Given the description of an element on the screen output the (x, y) to click on. 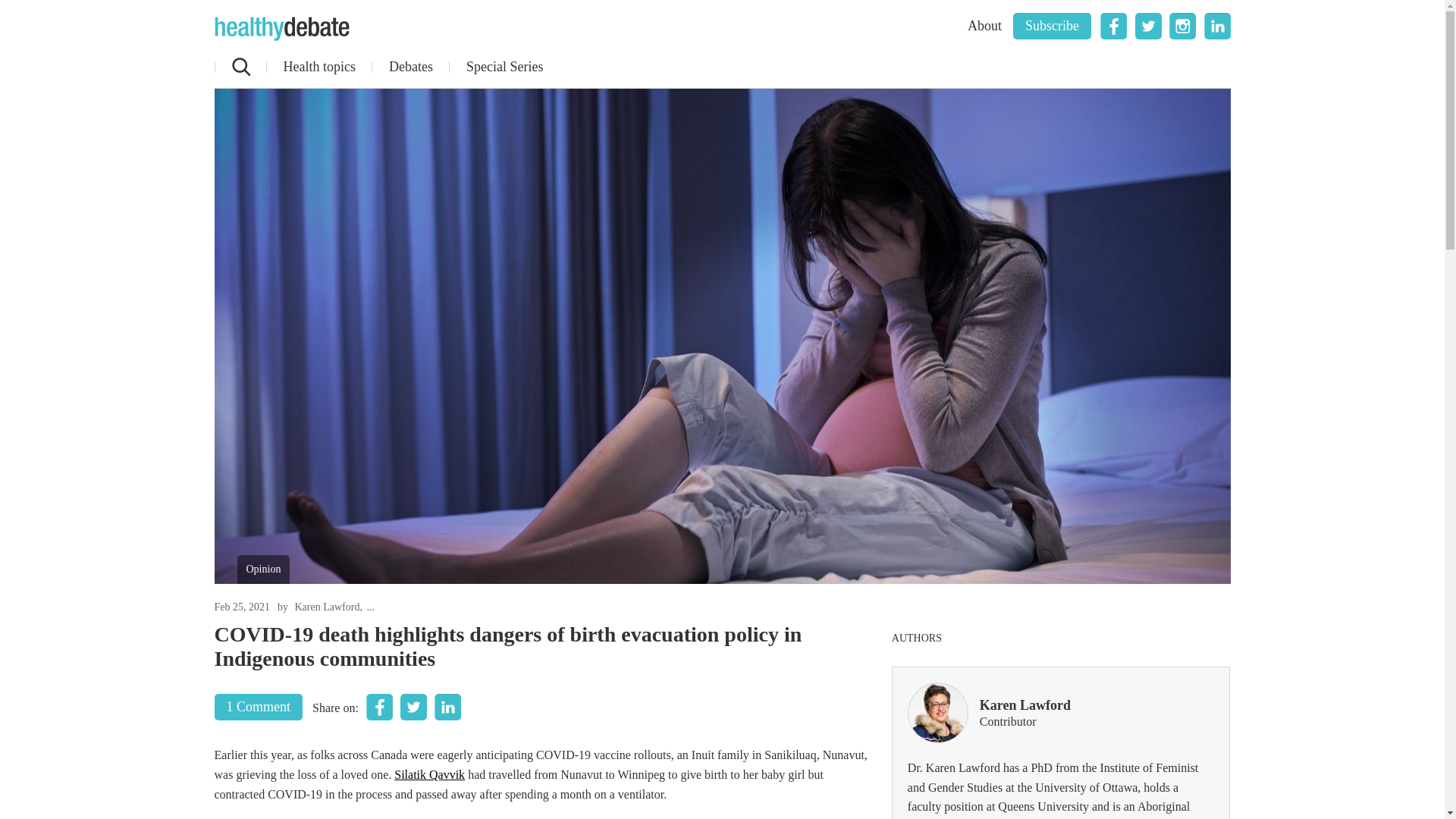
Subscribe (1051, 26)
Healthy Debate (281, 28)
Karen Lawford (327, 606)
1 Comment (258, 706)
Special Series (504, 67)
About (984, 25)
Debates (410, 67)
Healthy Debate (281, 28)
Health topics (318, 67)
